Given the description of an element on the screen output the (x, y) to click on. 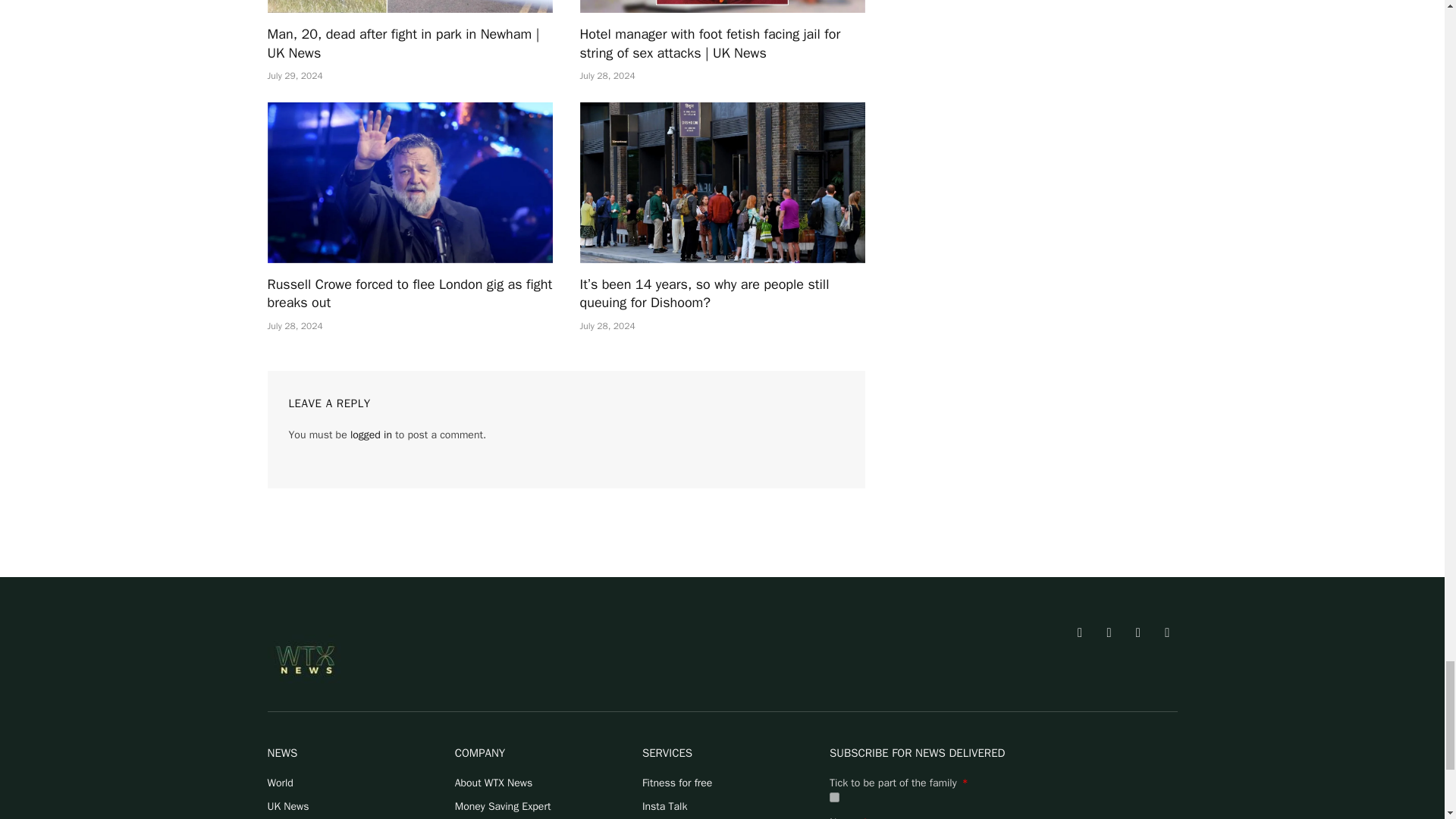
on (834, 797)
